Given the description of an element on the screen output the (x, y) to click on. 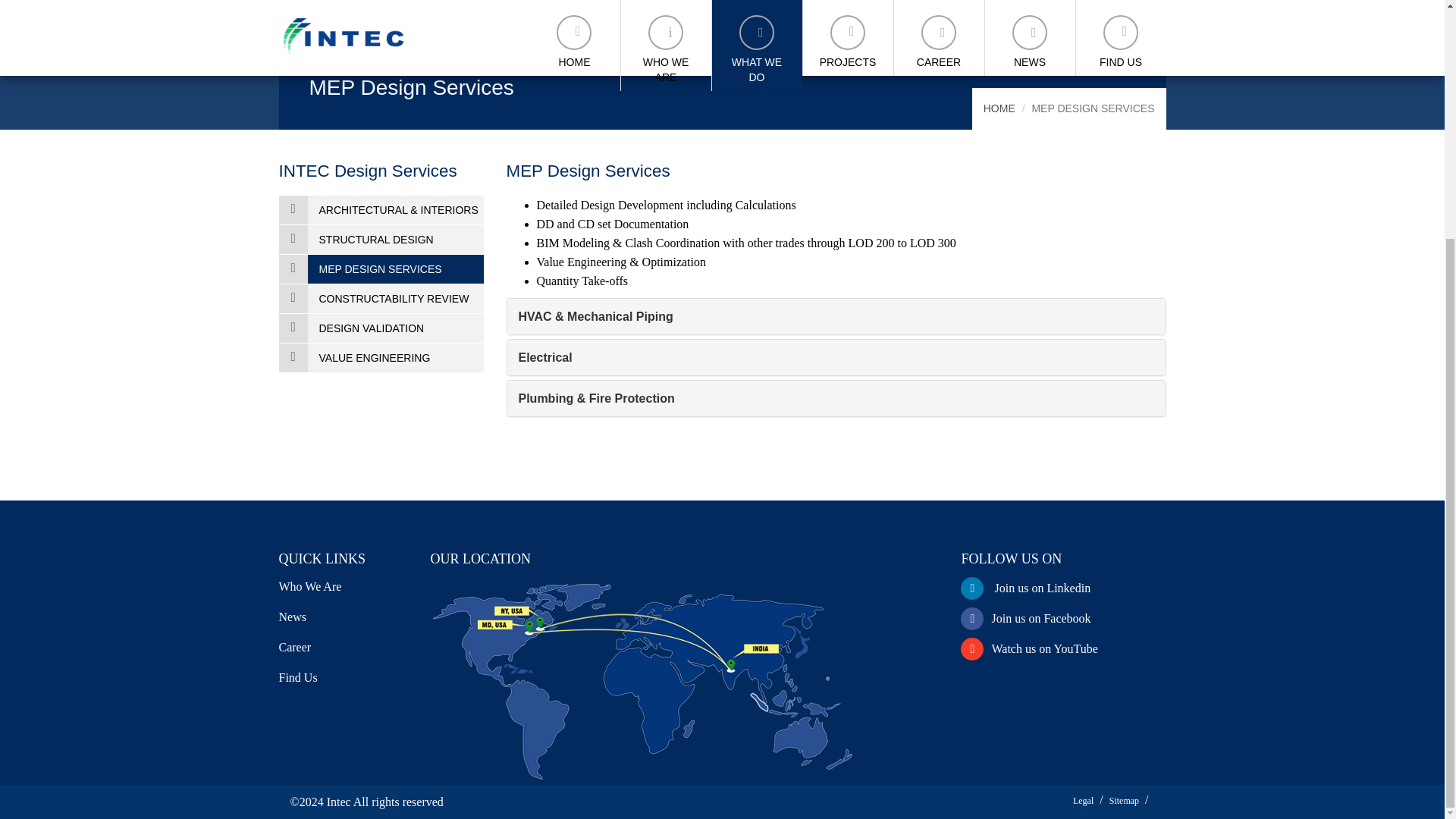
DESIGN VALIDATION (381, 328)
STRUCTURAL DESIGN SERVICES (381, 239)
MEP DESIGN SERVICES (381, 268)
HOME (999, 108)
CONSTRUCTABILITY REVIEW (381, 298)
VALUE ENGINEERING (381, 357)
